Given the description of an element on the screen output the (x, y) to click on. 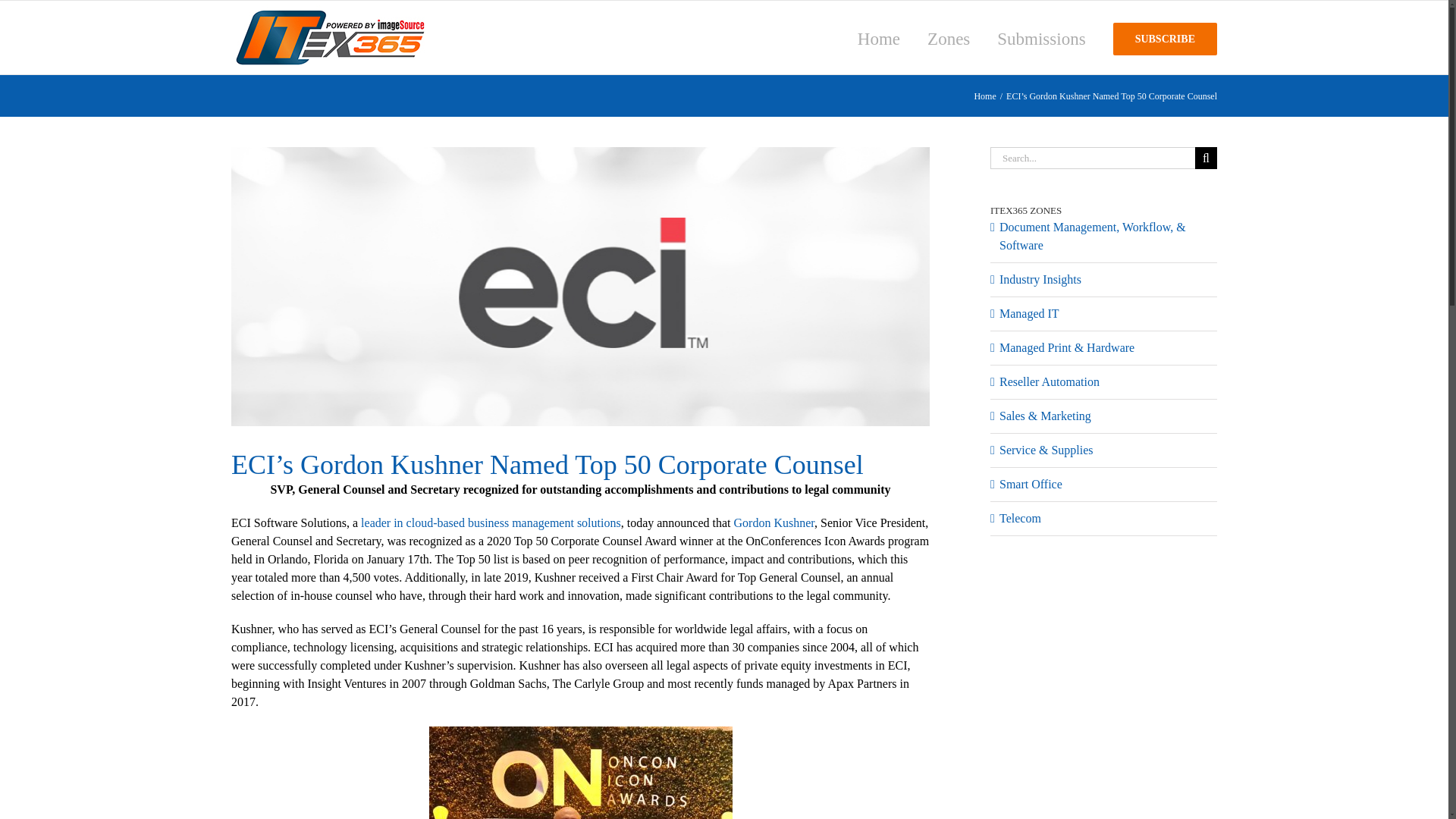
Zones (948, 37)
Submissions (1040, 37)
Gordon Kushner Top 50 General Counsel ICON Awards 2020 (580, 772)
Home (878, 37)
Reseller Automation (1048, 380)
Home (984, 95)
Managed IT (1028, 312)
Smart Office (1030, 483)
SUBSCRIBE (1165, 37)
leader in cloud-based business management solutions (491, 522)
Gordon Kushner (773, 522)
Industry Insights (1039, 278)
